Given the description of an element on the screen output the (x, y) to click on. 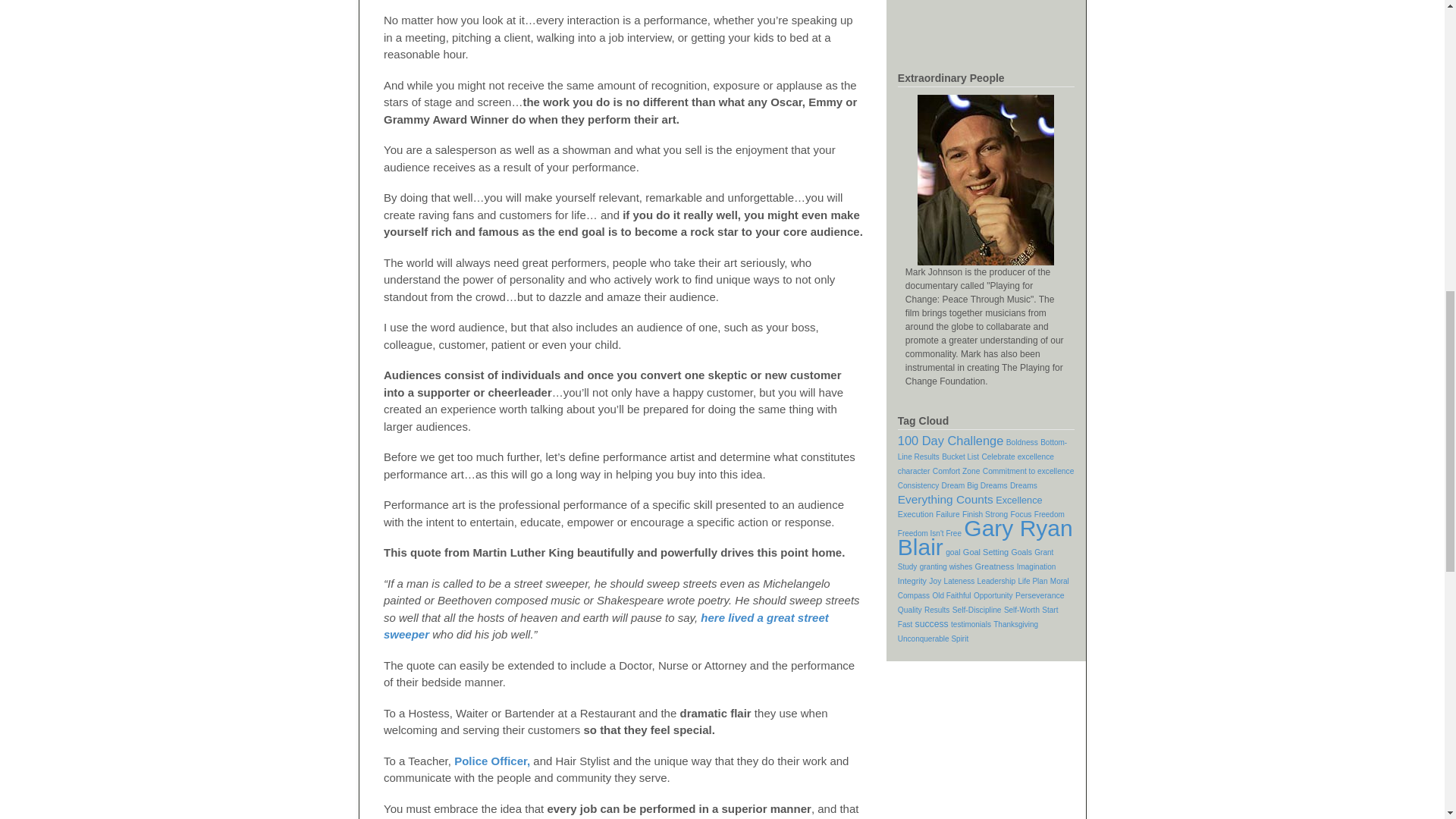
2 topics (1017, 456)
1 topic (960, 456)
100 Day Challenge (951, 440)
2 topics (1023, 485)
2 topics (914, 470)
2 topics (956, 470)
2 topics (974, 485)
1 topic (982, 449)
1 topic (918, 485)
here lived a great street sweeper (606, 625)
